Given the description of an element on the screen output the (x, y) to click on. 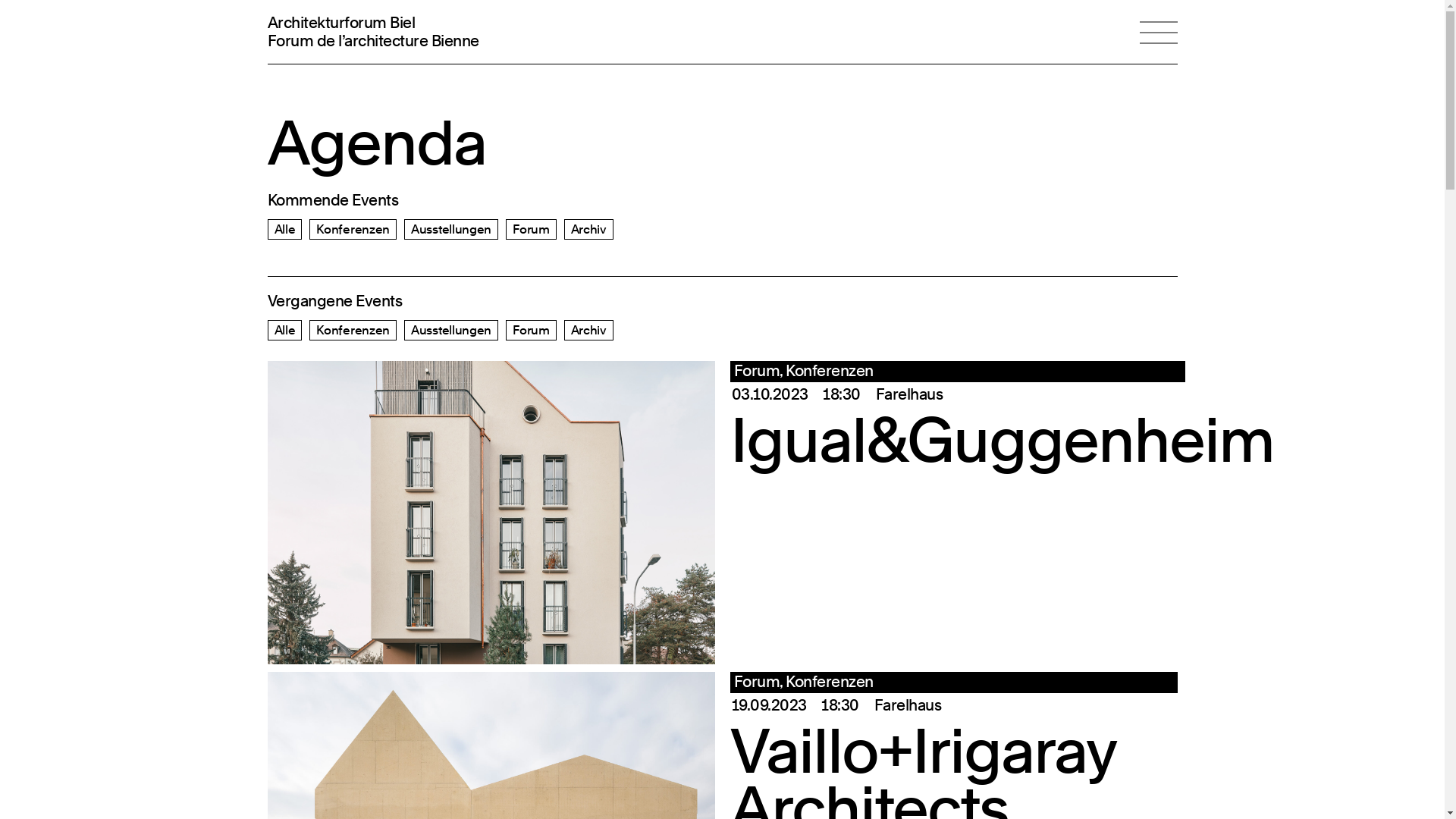
Archiv Element type: text (588, 229)
Ausstellungen Element type: text (451, 229)
Alle Element type: text (284, 330)
Konferenzen Element type: text (352, 330)
Konferenzen Element type: text (352, 229)
Igual&Guggenheim Element type: text (1001, 439)
Alle Element type: text (284, 229)
Forum Element type: text (530, 229)
Archiv Element type: text (588, 330)
Forum Element type: text (530, 330)
Ausstellungen Element type: text (451, 330)
